Given the description of an element on the screen output the (x, y) to click on. 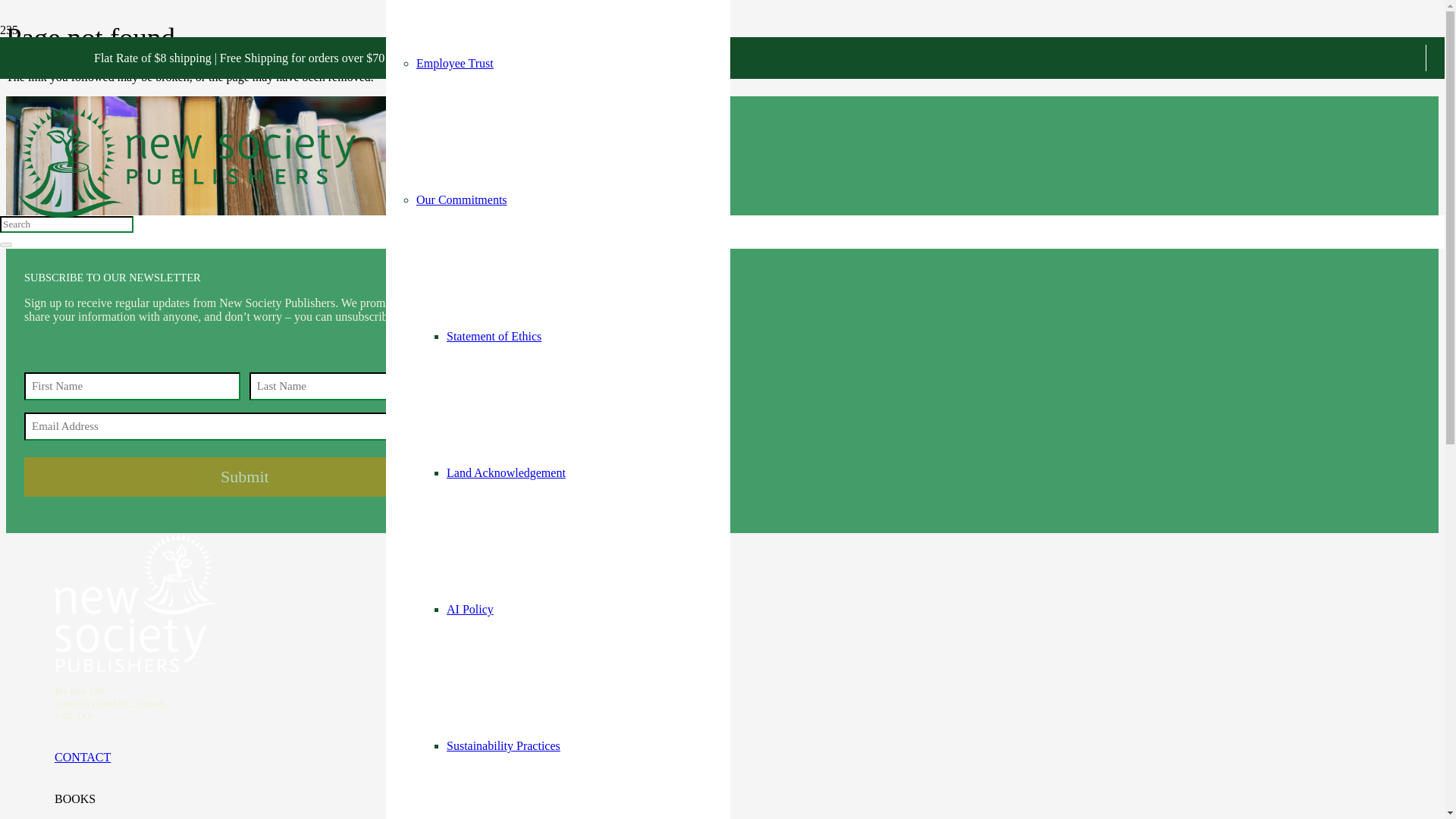
Land Acknowledgement (506, 472)
Our Commitments (461, 199)
Contact Us (440, 21)
Sign In (447, 78)
Employee Trust (454, 62)
Sustainability Practices (503, 745)
Statement of Ethics (493, 336)
Submit (244, 477)
AI Policy (469, 608)
